Given the description of an element on the screen output the (x, y) to click on. 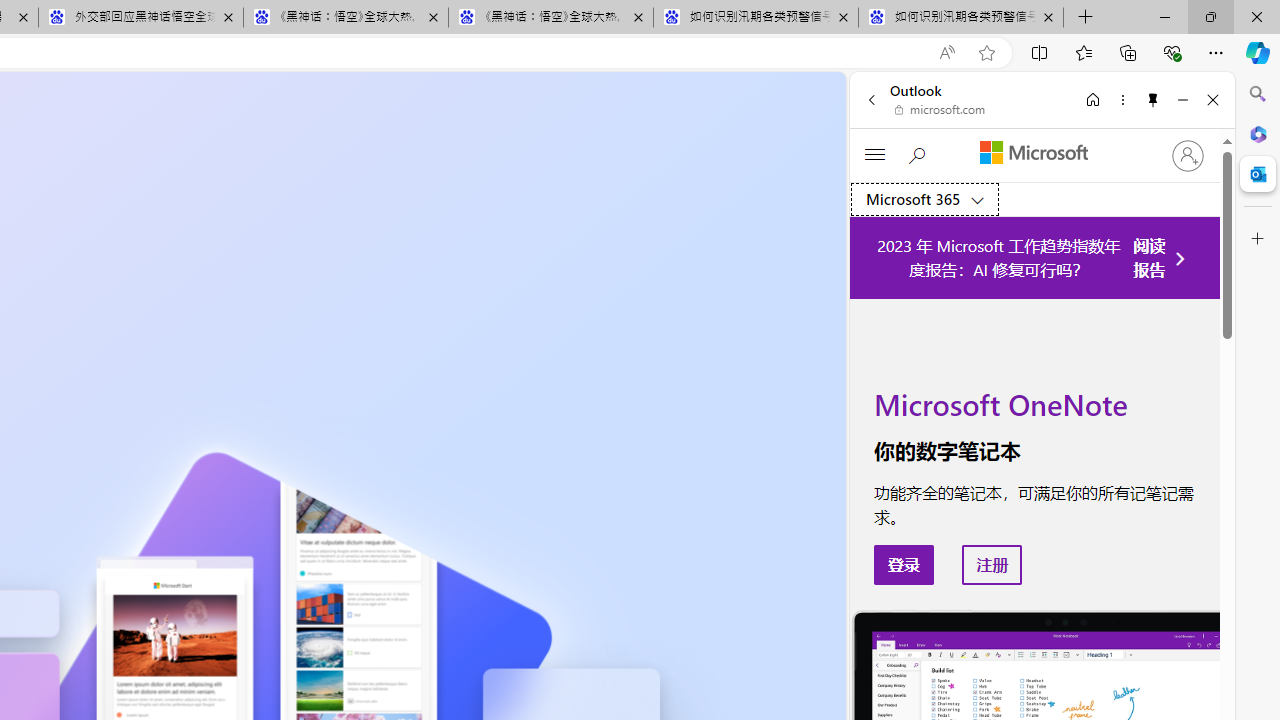
Microsoft (1033, 153)
Home (1093, 99)
Search (1258, 94)
microsoft.com (940, 110)
Customize (1258, 239)
Outlook (1258, 174)
